Given the description of an element on the screen output the (x, y) to click on. 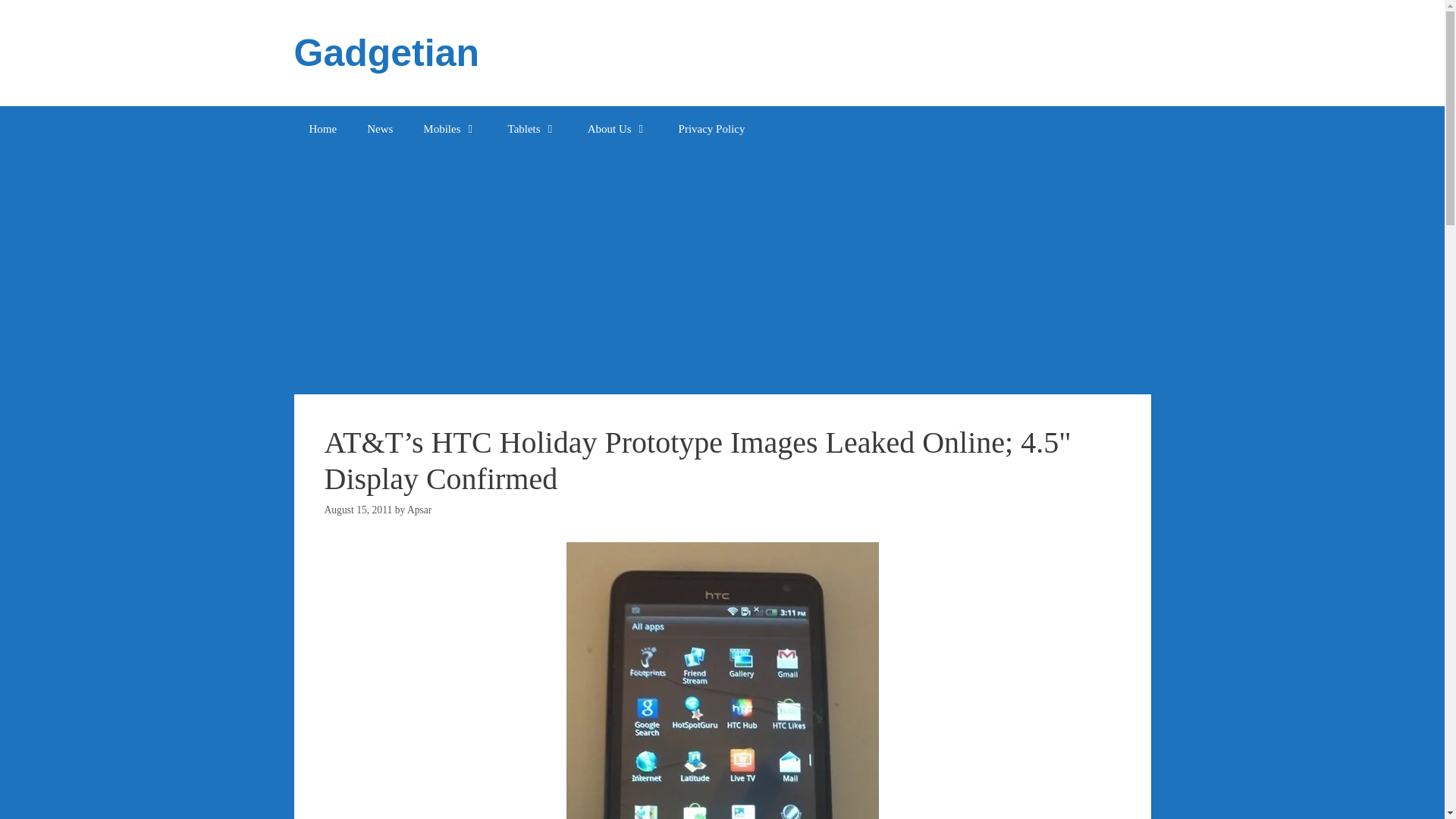
Mobiles (449, 128)
News (379, 128)
Tablets (532, 128)
About Us (617, 128)
Privacy Policy (711, 128)
Gadgetian (386, 52)
Apsar (418, 509)
Home (323, 128)
View all posts by Apsar (418, 509)
